Given the description of an element on the screen output the (x, y) to click on. 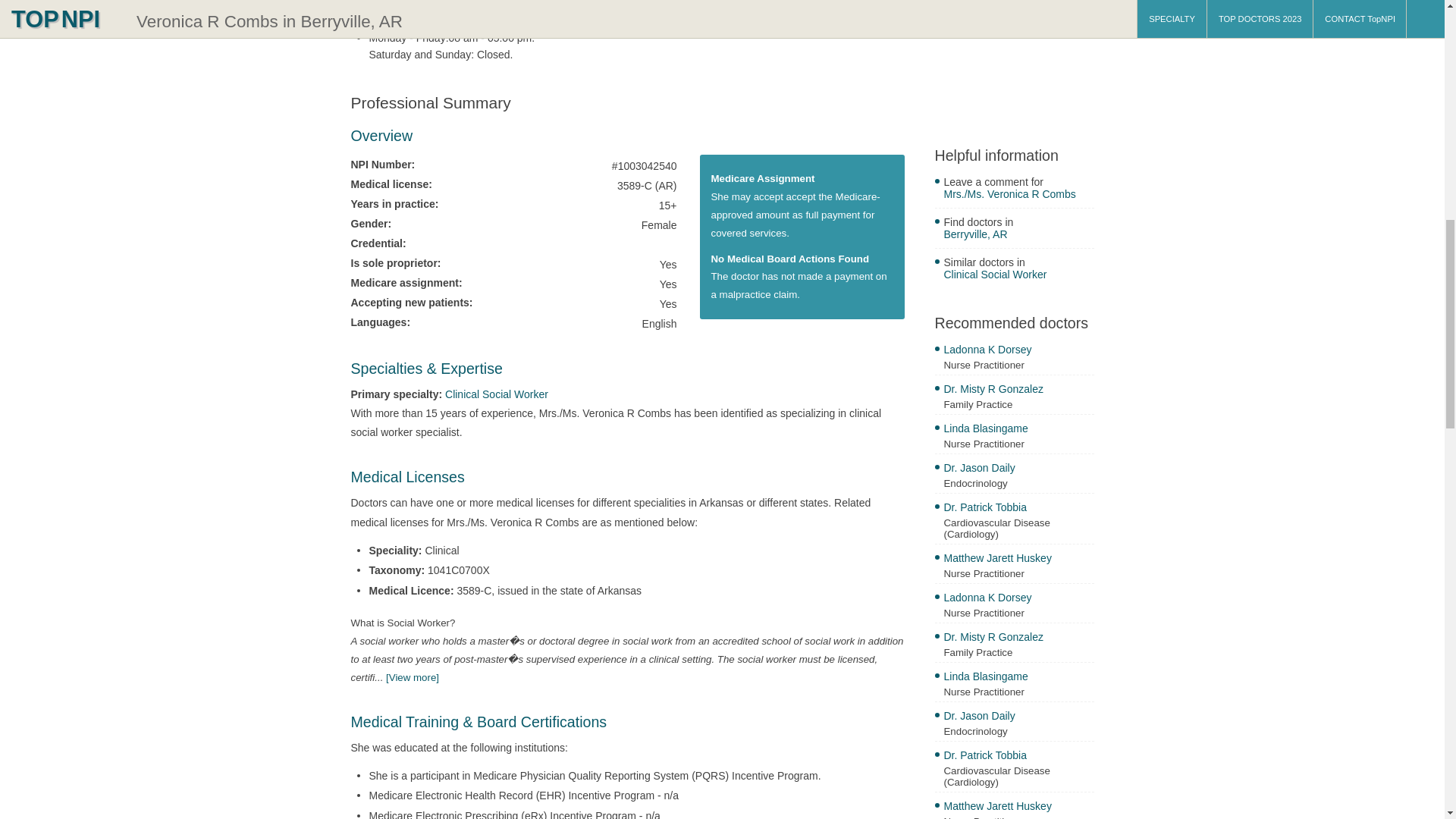
Ladonna K Dorsey (1018, 599)
Dr. Misty R Gonzalez (1018, 638)
Matthew Jarett Huskey (1018, 807)
Health Care Provider Taxonomy Code (412, 677)
Dr. Misty R Gonzalez (1018, 390)
Berryville, AR (1018, 236)
Clinical Social Worker (496, 394)
Ladonna K Dorsey (1018, 351)
Dr. Patrick Tobbia (1018, 508)
Linda Blasingame (1018, 430)
Matthew Jarett Huskey (1018, 560)
Clinical Social Worker (496, 394)
Clinical Social Worker (1018, 276)
Dr. Patrick Tobbia (1018, 756)
Dr. Jason Daily (1018, 469)
